Given the description of an element on the screen output the (x, y) to click on. 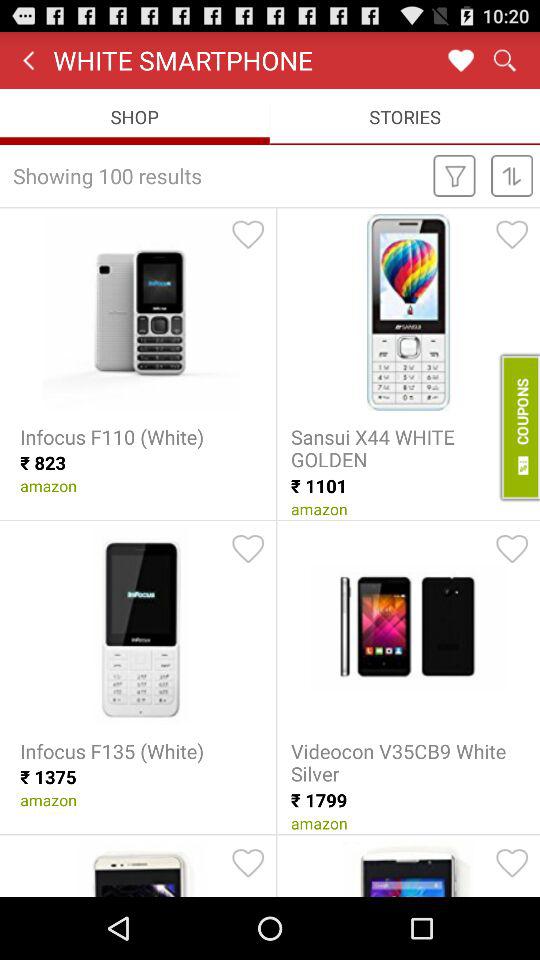
toggle product as favorite (248, 234)
